Given the description of an element on the screen output the (x, y) to click on. 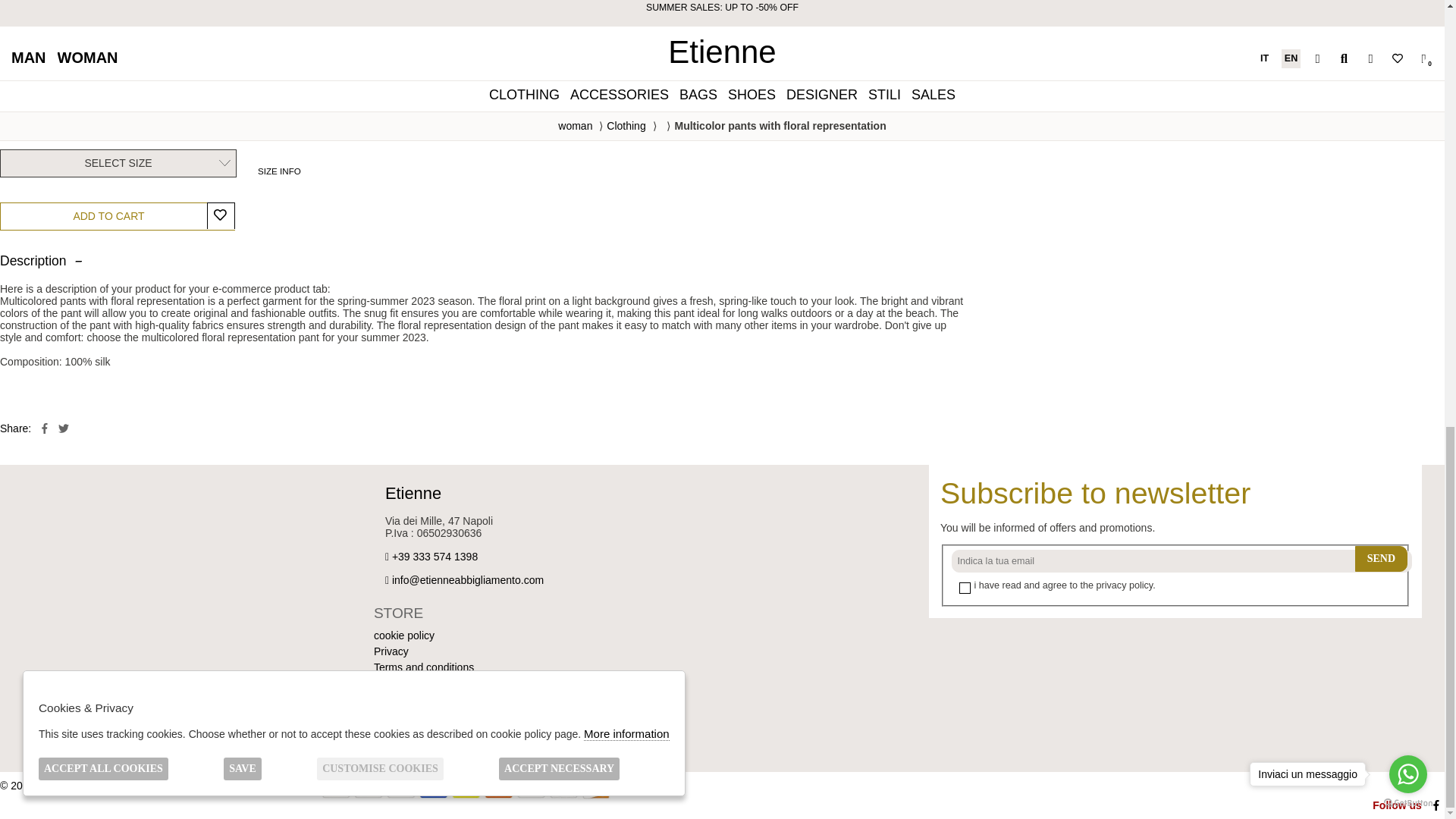
facebook (45, 428)
